Given the description of an element on the screen output the (x, y) to click on. 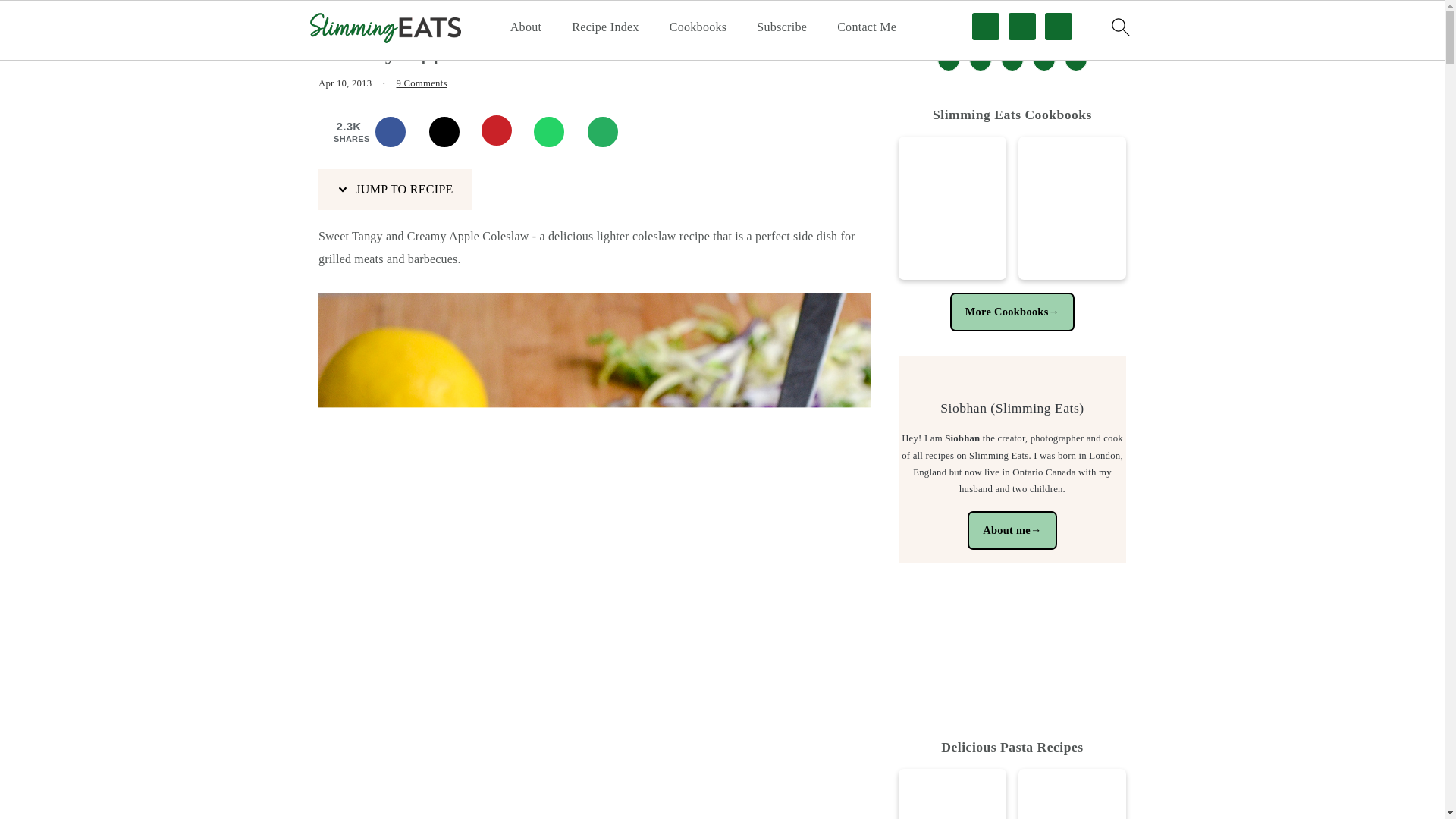
Share on Facebook (397, 132)
Save to Pinterest (503, 132)
Send over email (609, 132)
search icon (1119, 26)
Share on X (451, 132)
Share on WhatsApp (556, 132)
